Given the description of an element on the screen output the (x, y) to click on. 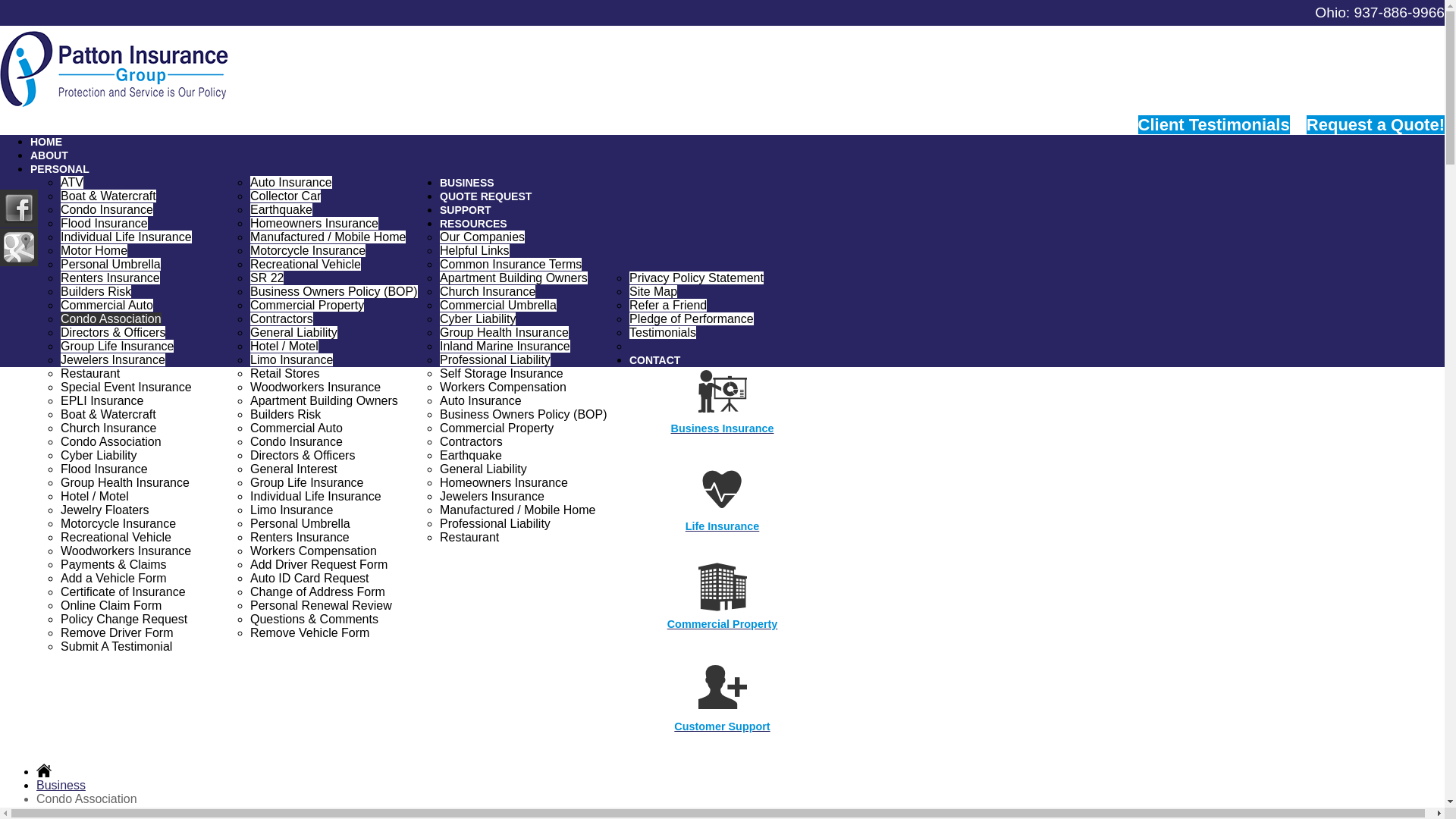
Renters Insurance (110, 277)
Homeowners Insurance (314, 223)
Flood Insurance (104, 223)
Apartment Building Owners (513, 277)
Request a Quote! (1375, 124)
Cyber Liability (477, 318)
Motorcycle Insurance (307, 250)
SR 22 (266, 277)
HOME (46, 141)
Individual Life Insurance (126, 236)
ABOUT (49, 155)
Group Life Insurance (117, 345)
Recreational Vehicle (305, 264)
Client Testimonials (1214, 124)
Group Health Insurance (504, 332)
